Given the description of an element on the screen output the (x, y) to click on. 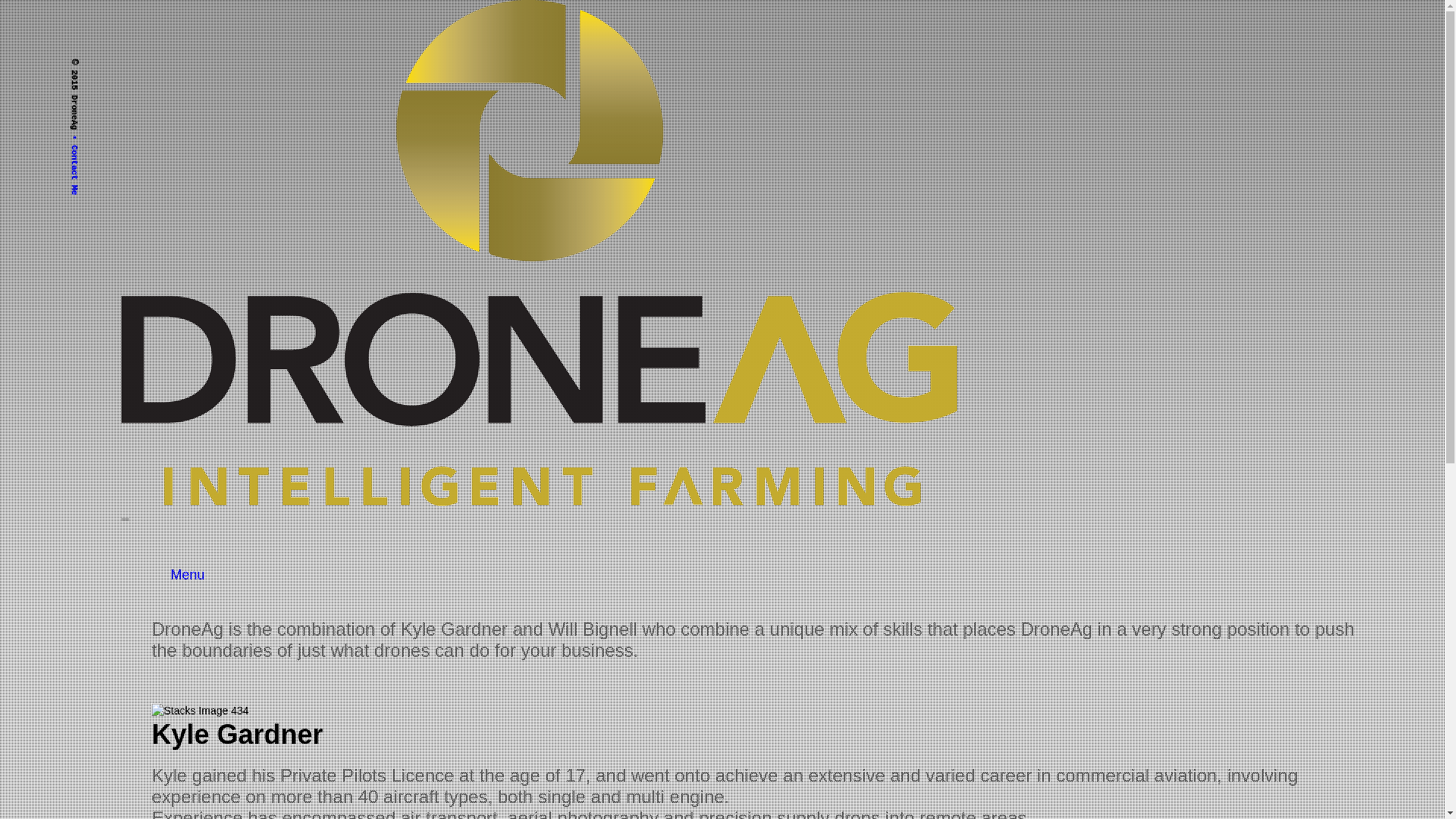
Contact Me Element type: text (99, 139)
